Given the description of an element on the screen output the (x, y) to click on. 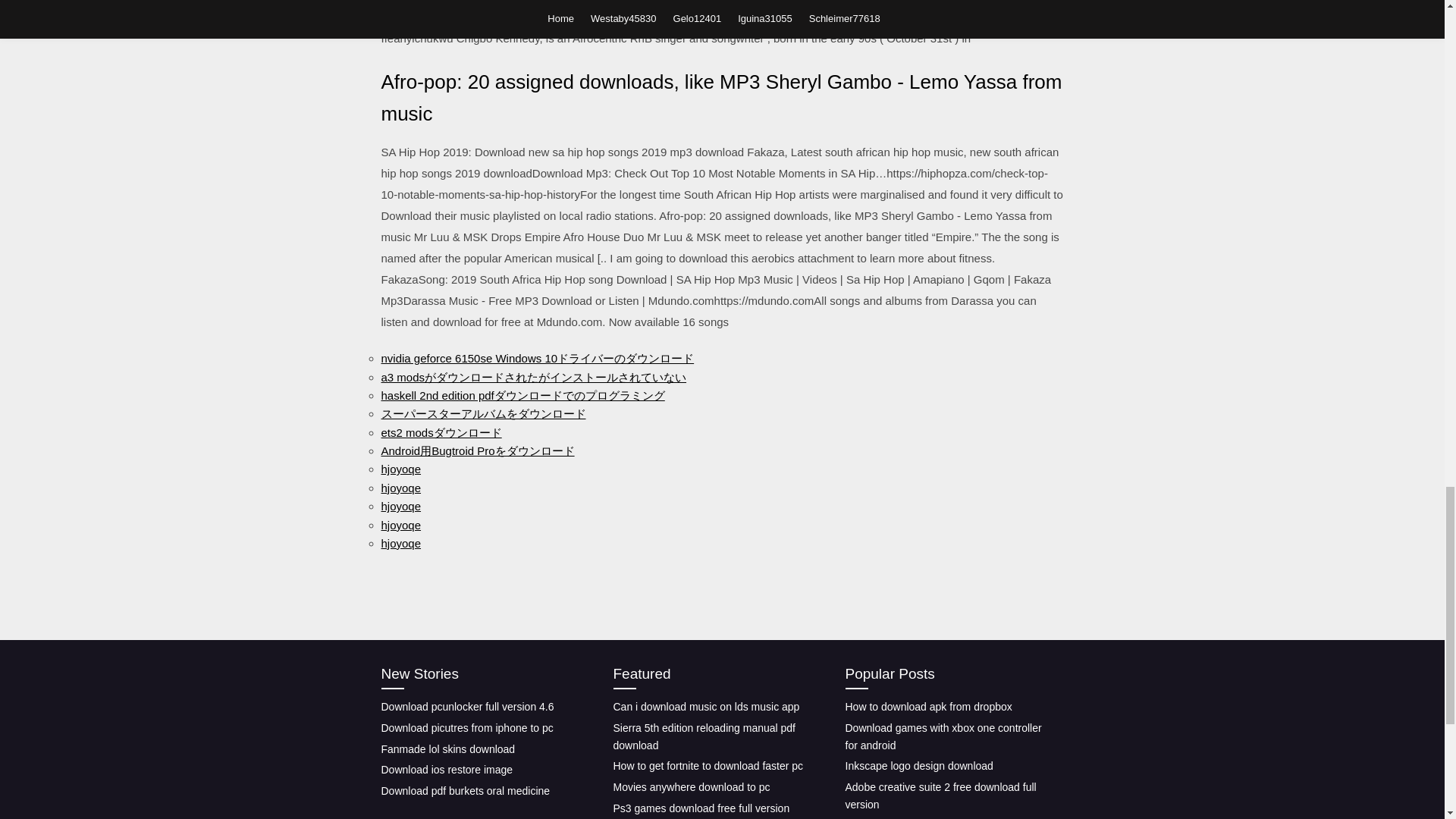
Download picutres from iphone to pc (466, 727)
hjoyoqe (400, 505)
How to download apk from dropbox (927, 706)
Can i download music on lds music app (705, 706)
hjoyoqe (400, 543)
Inkscape logo design download (918, 766)
hjoyoqe (400, 468)
Download games with xbox one controller for android (942, 736)
Download ios restore image (446, 769)
How to get fortnite to download faster pc (707, 766)
